Given the description of an element on the screen output the (x, y) to click on. 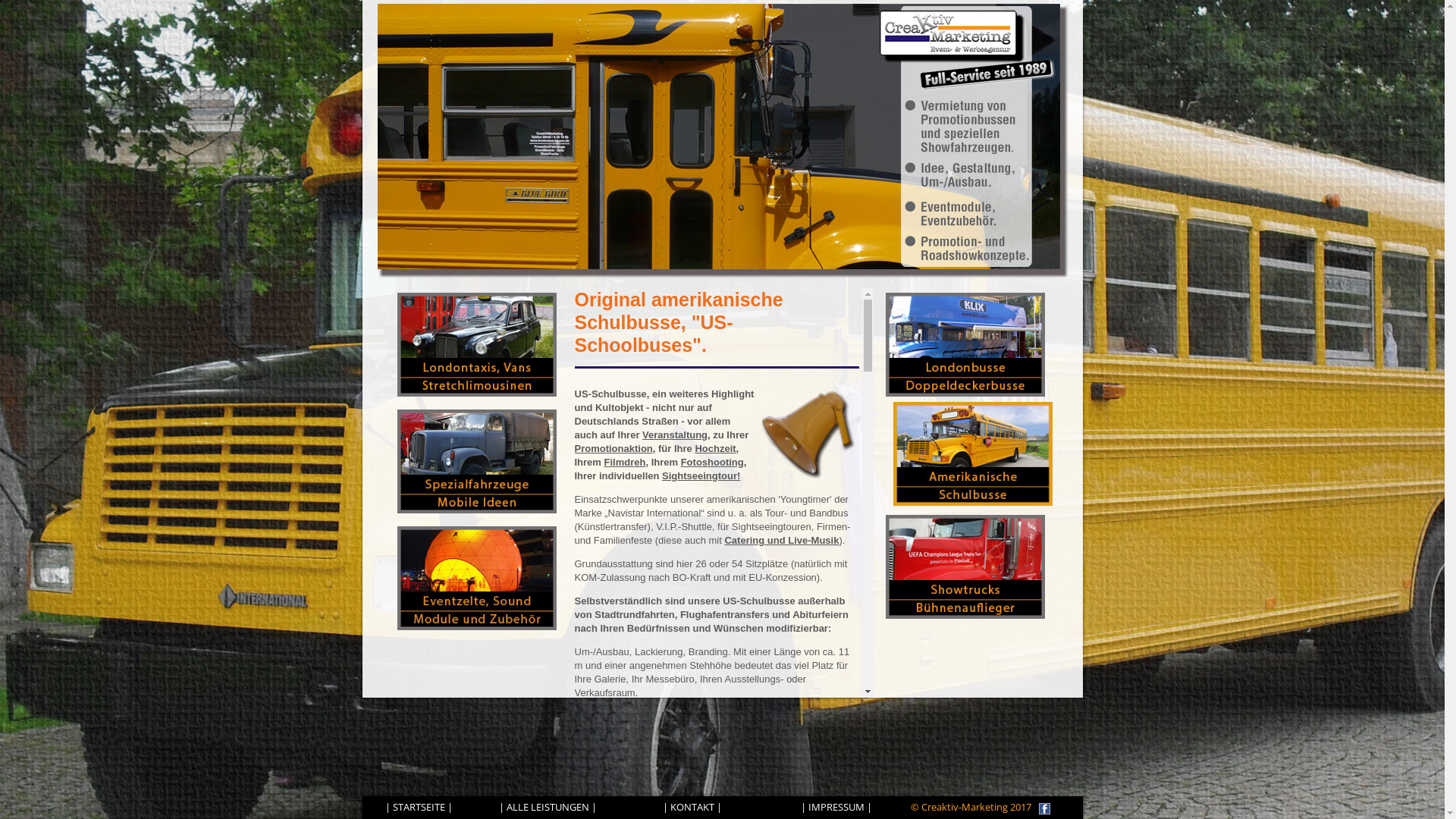
Londonbusse Element type: hover (964, 344)
Eventzelte, Sound, Eventmodule Element type: hover (476, 578)
| ALLE LEISTUNGEN Element type: text (543, 806)
Besuchen Sie uns auch auf Facebook Element type: hover (1040, 808)
Amerikanischer Schulbus Element type: hover (718, 136)
Londontaxis, Vans, Limos Element type: hover (476, 344)
| KONTAKT | Element type: text (691, 806)
| STARTSEITE | Element type: text (418, 806)
| IMPRESSUM | Element type: text (836, 806)
Amerikanische Schulbusse Element type: hover (972, 453)
Spezialfahrzeuge, Mobile Ideen Element type: hover (476, 461)
